Given the description of an element on the screen output the (x, y) to click on. 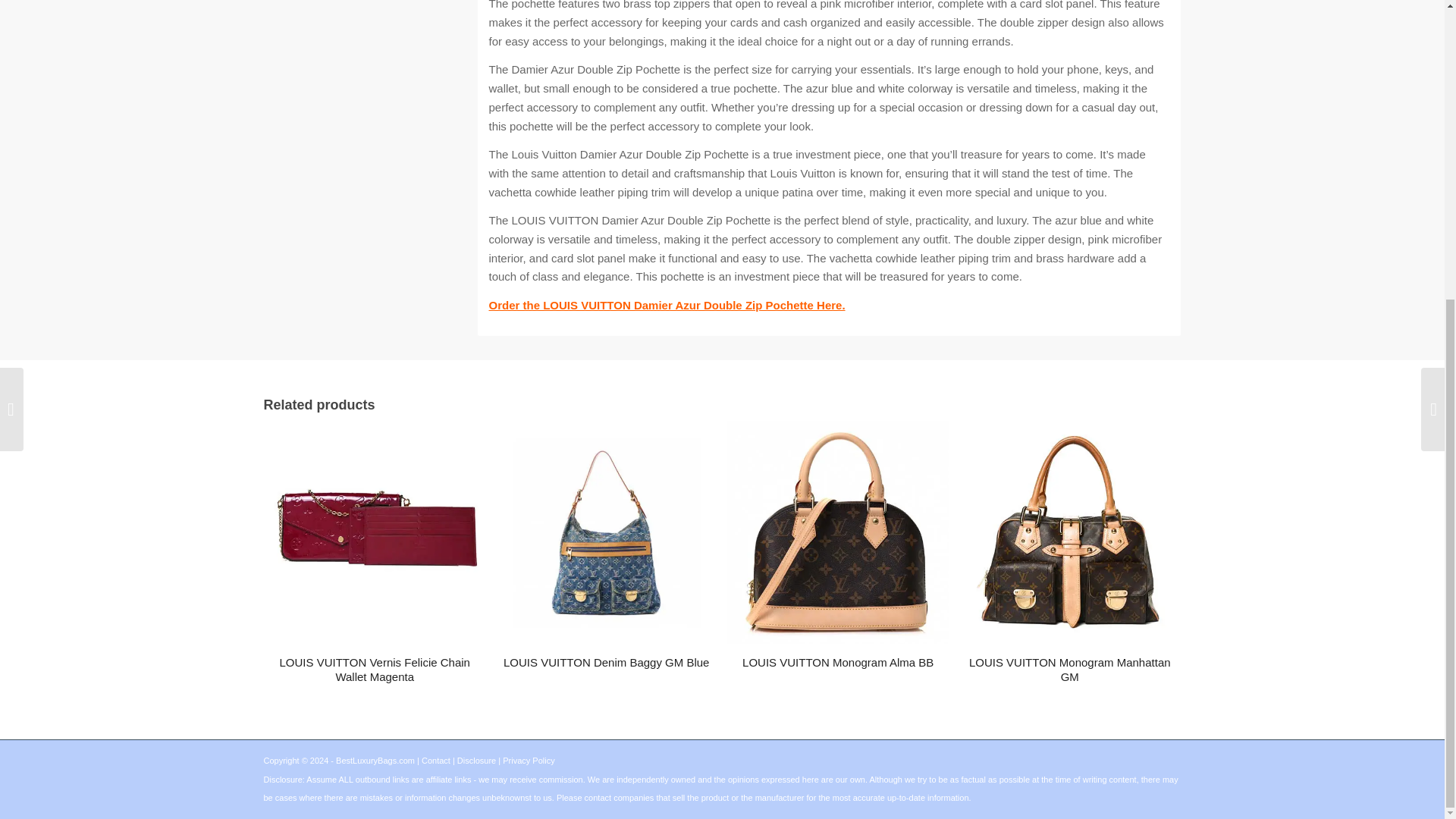
Contact (435, 759)
Privacy Policy (528, 759)
Disclosure (476, 759)
